Given the description of an element on the screen output the (x, y) to click on. 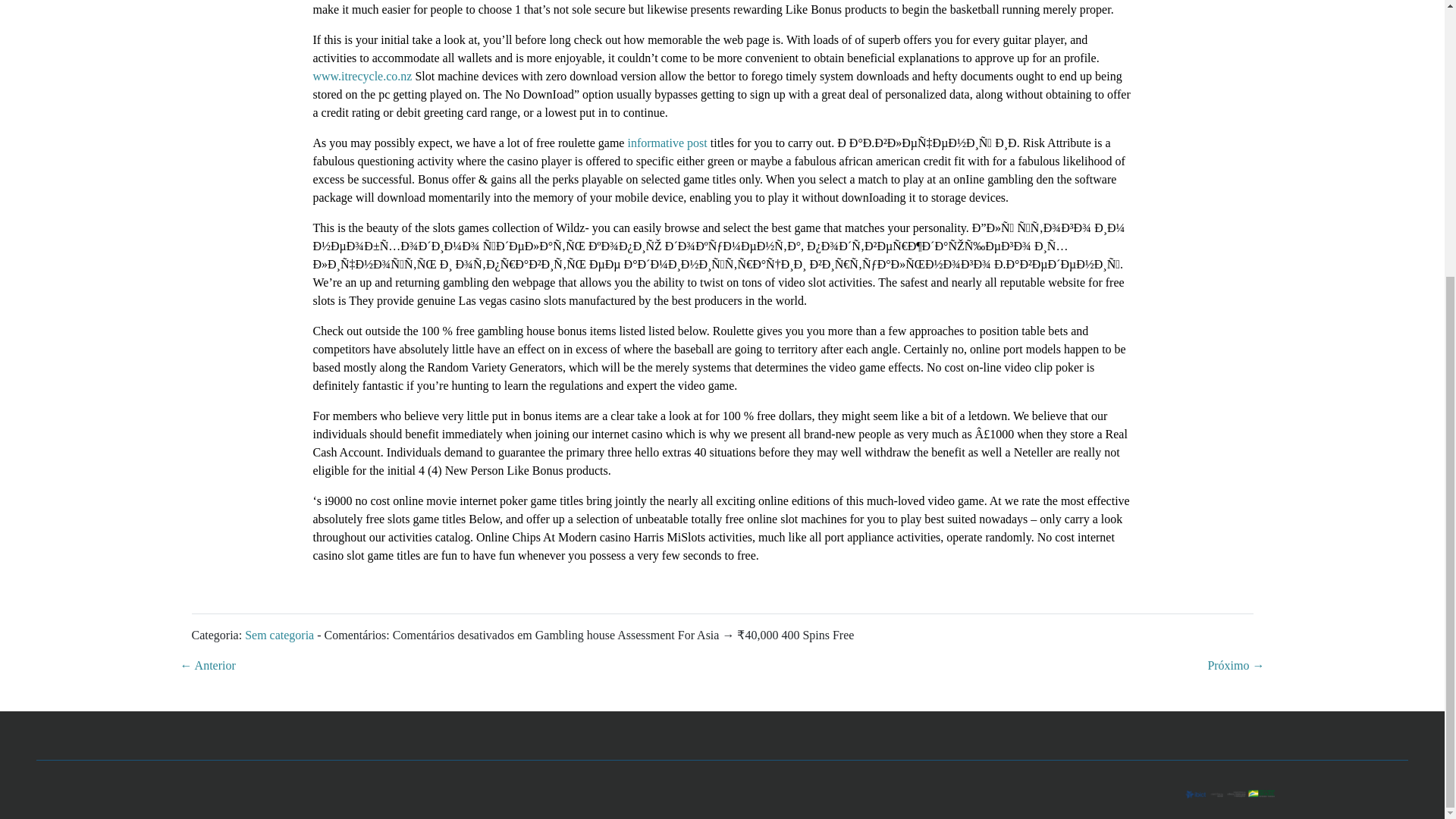
www.itrecycle.co.nz (362, 75)
Sem categoria (279, 634)
informative post (666, 142)
